Given the description of an element on the screen output the (x, y) to click on. 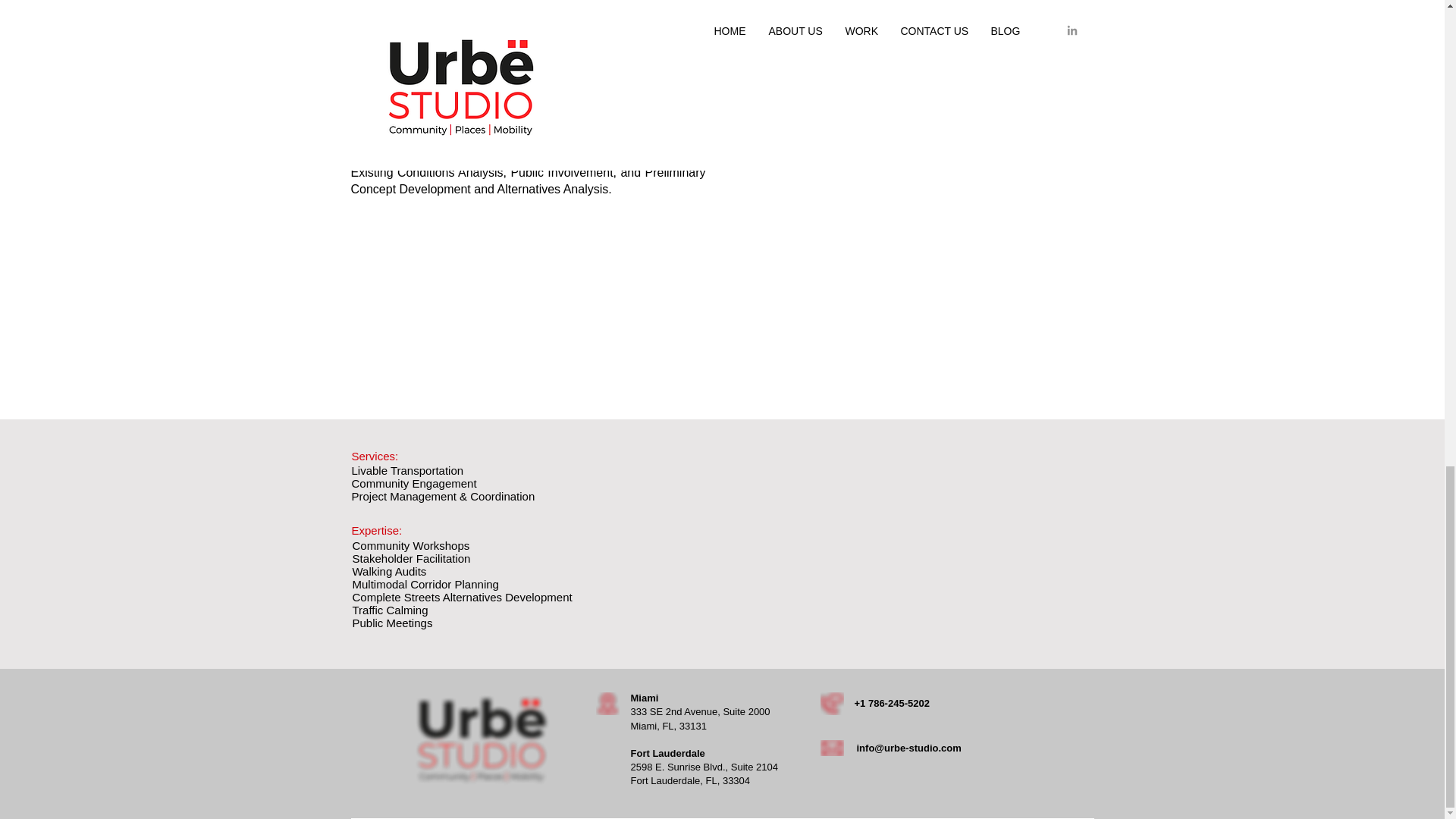
Urbe Studio Logo.PNG.PNG (481, 740)
